Given the description of an element on the screen output the (x, y) to click on. 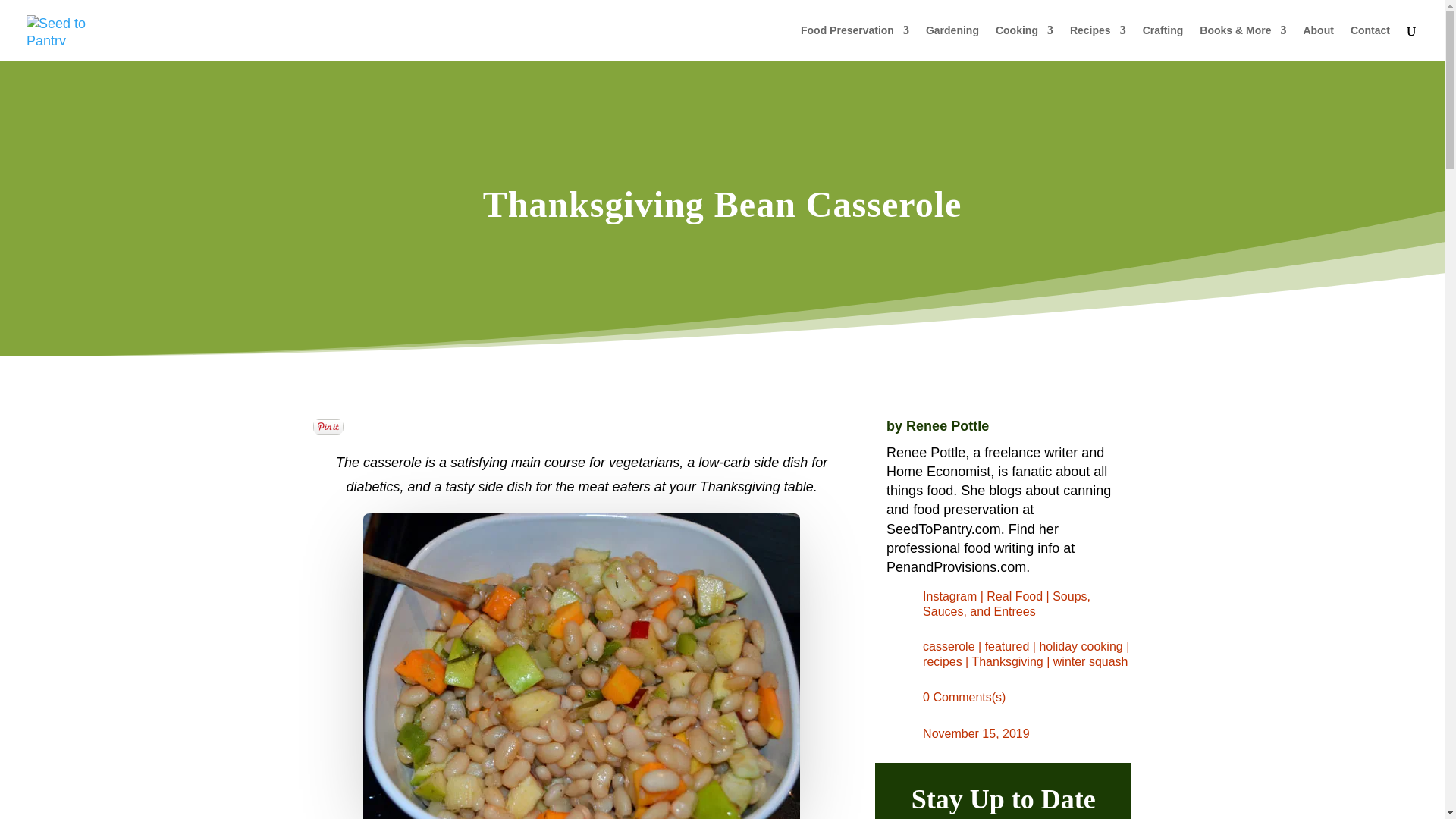
holiday cooking (1080, 645)
Real Food (1014, 595)
featured (1007, 645)
Gardening (952, 42)
Pin It (327, 426)
recipes (942, 661)
Recipes (1097, 42)
Cooking (1023, 42)
Contact (1370, 42)
Soups, Sauces, and Entrees (1006, 603)
Instagram (949, 595)
Crafting (1162, 42)
Thanksgiving (1006, 661)
Food Preservation (854, 42)
Renee Pottle (946, 426)
